Given the description of an element on the screen output the (x, y) to click on. 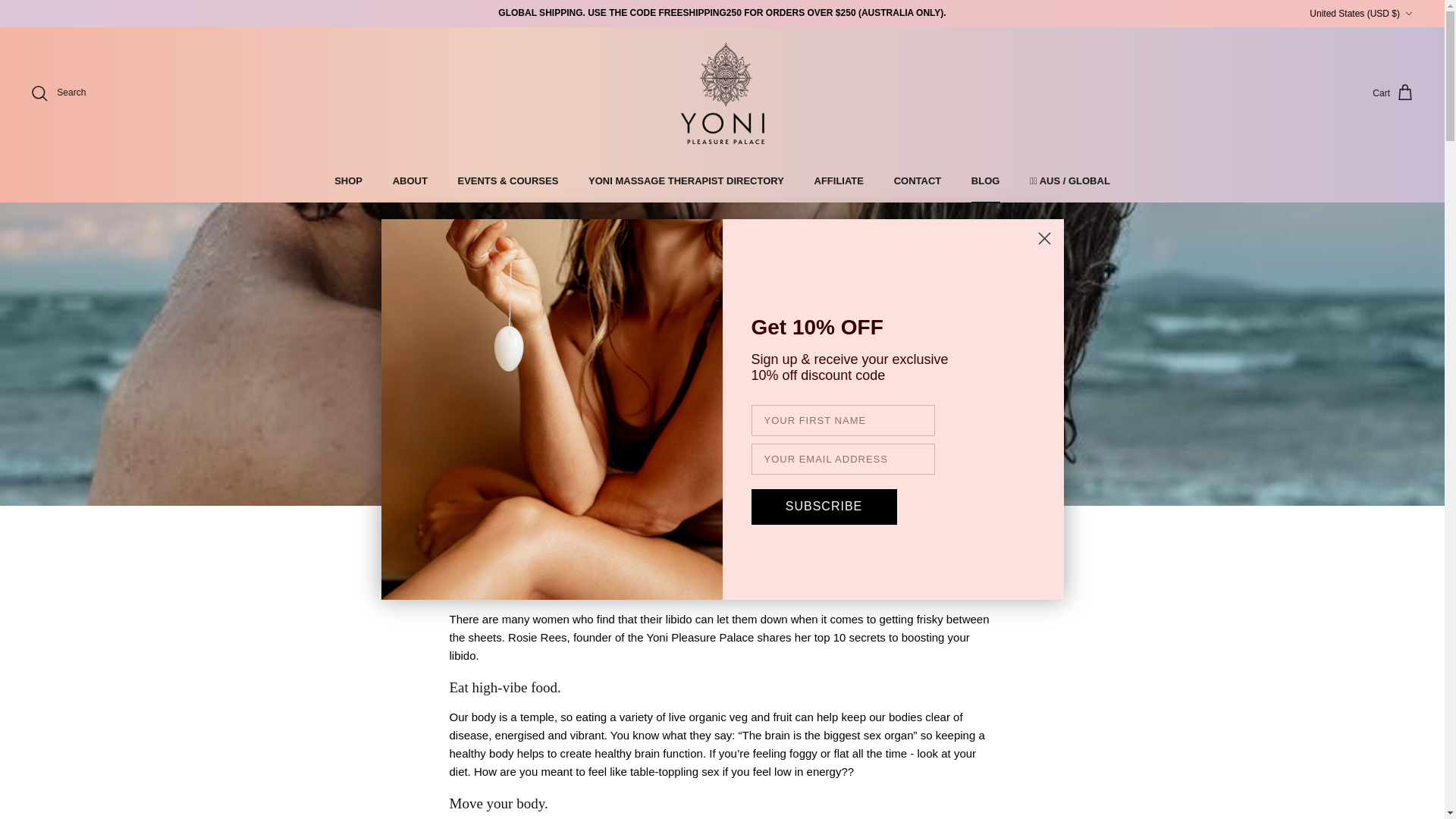
Close dialog 12 (1044, 238)
Down (1408, 13)
